Given the description of an element on the screen output the (x, y) to click on. 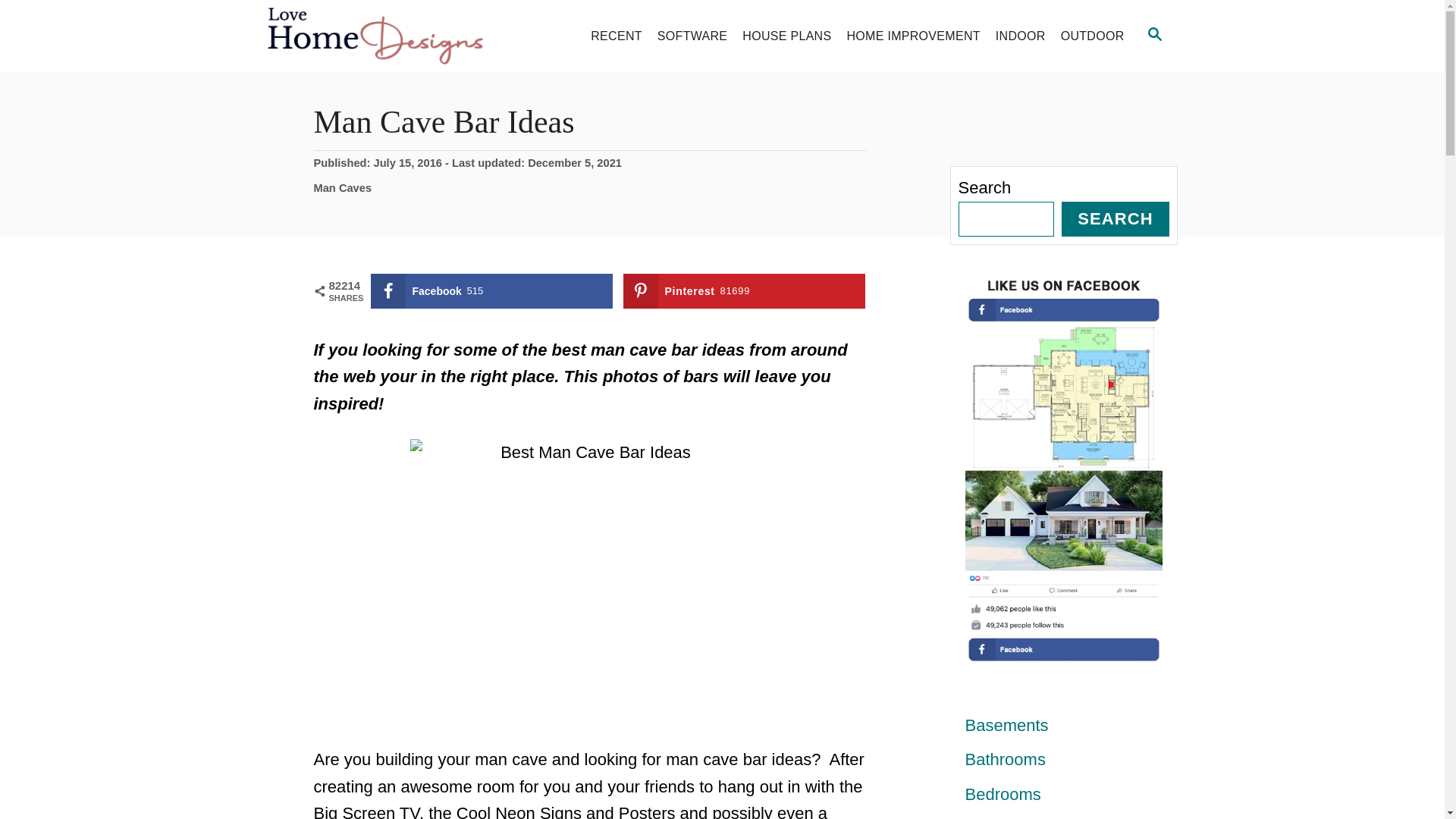
RECENT (616, 35)
Share on Facebook (490, 290)
HOUSE PLANS (786, 35)
Save to Pinterest (744, 290)
SOFTWARE (692, 35)
SEARCH (1154, 35)
Love Home Designs (402, 36)
